Given the description of an element on the screen output the (x, y) to click on. 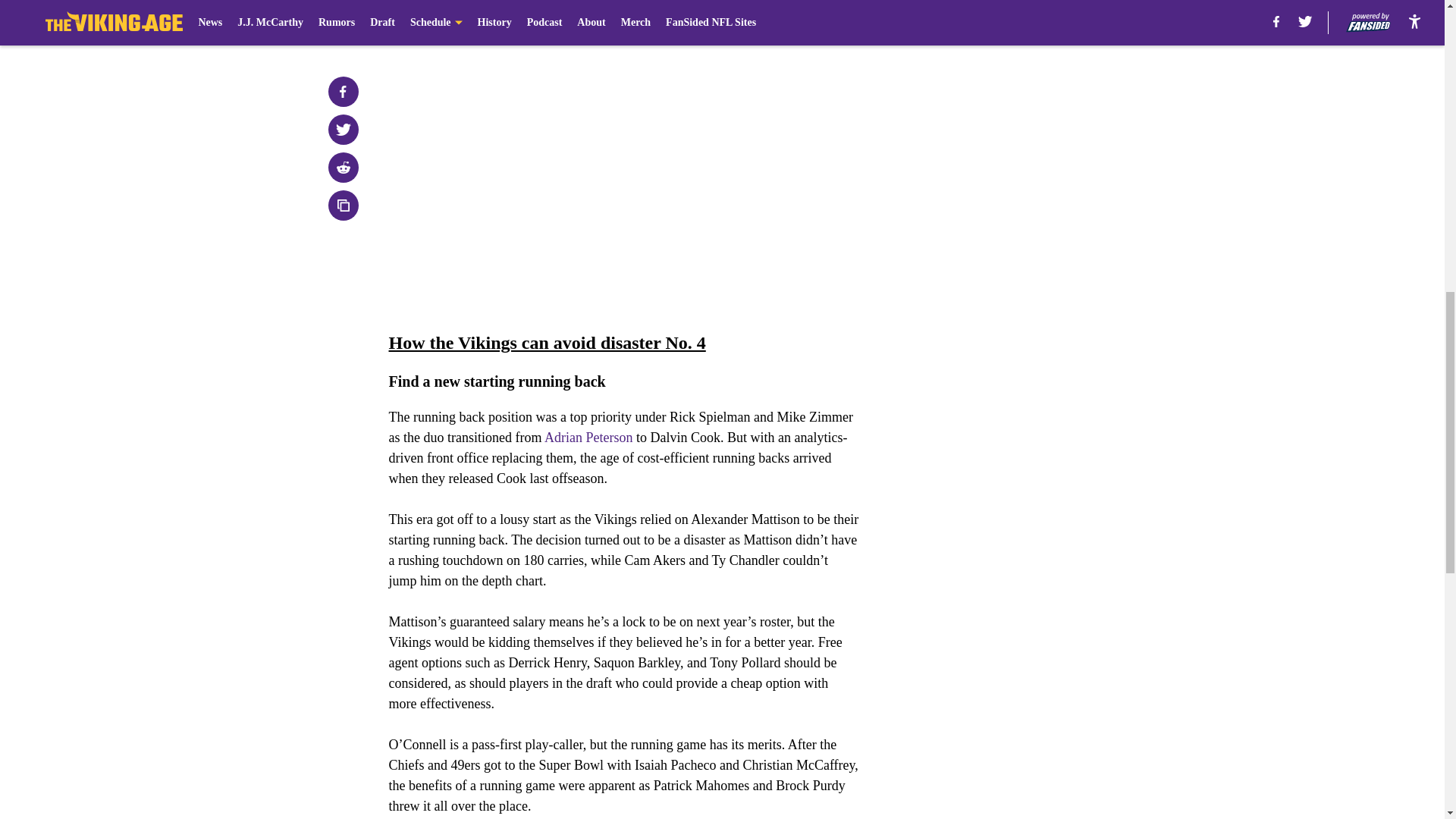
Adrian Peterson (587, 437)
Prev (433, 20)
Next (813, 20)
